Given the description of an element on the screen output the (x, y) to click on. 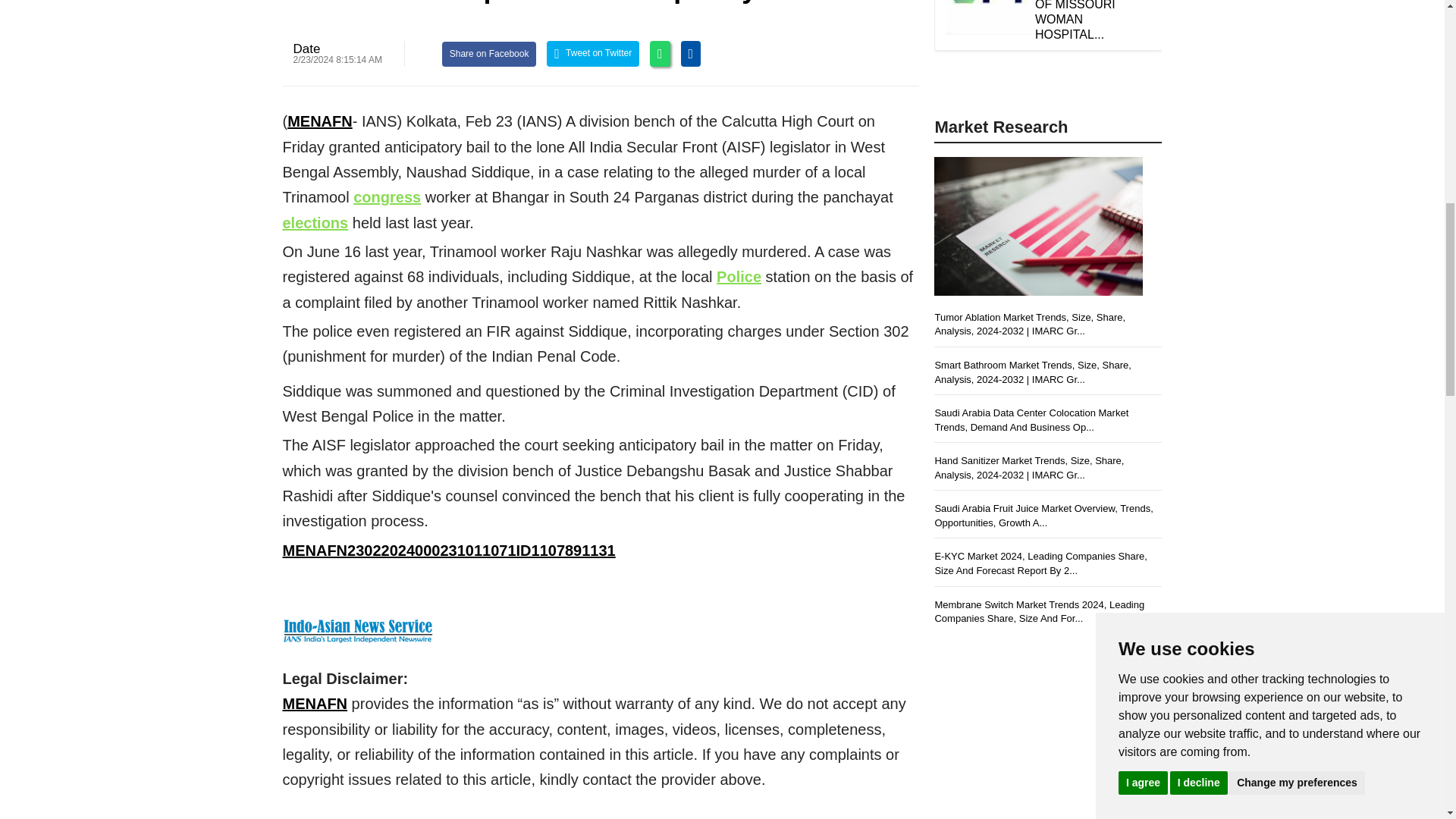
Posts by NewEdge (306, 48)
